Given the description of an element on the screen output the (x, y) to click on. 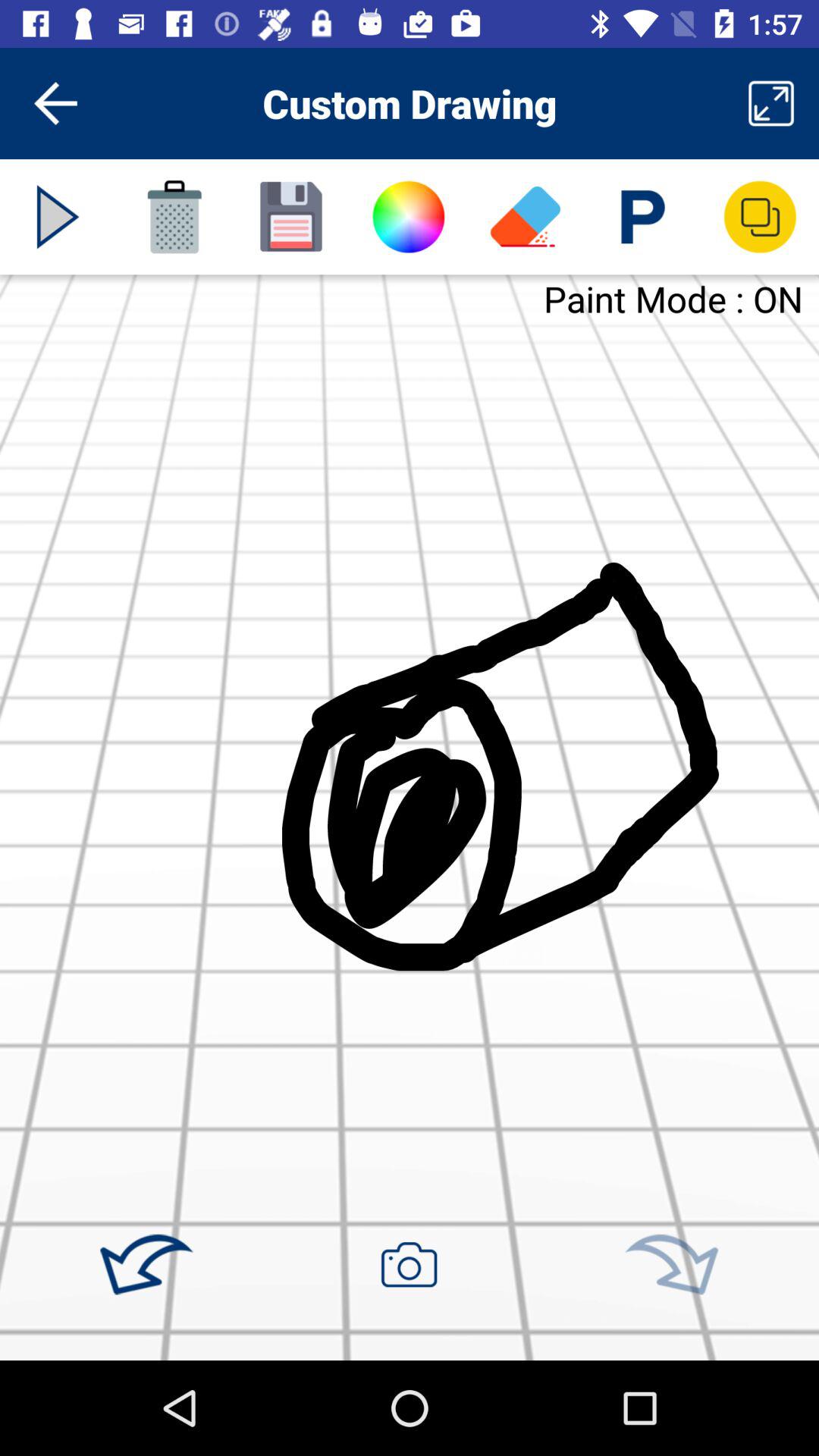
delete custom drawing (174, 216)
